Given the description of an element on the screen output the (x, y) to click on. 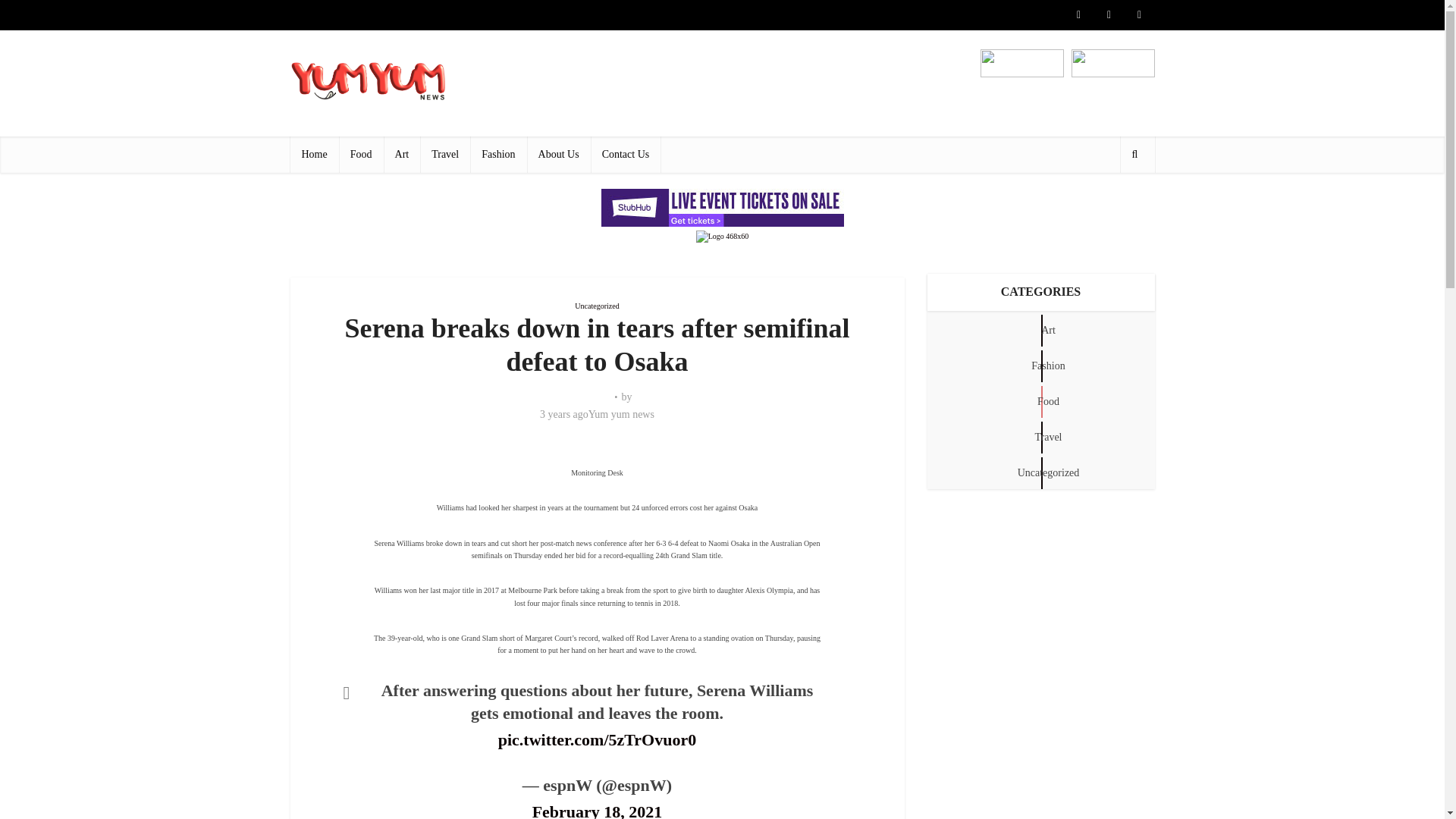
Contact Us (626, 154)
Yum yum news (620, 414)
Fashion (497, 154)
Home (313, 154)
About Us (559, 154)
Food (361, 154)
February 18, 2021 (597, 809)
Uncategorized (596, 306)
Art (402, 154)
Travel (445, 154)
Logo 468x60 (722, 236)
